Given the description of an element on the screen output the (x, y) to click on. 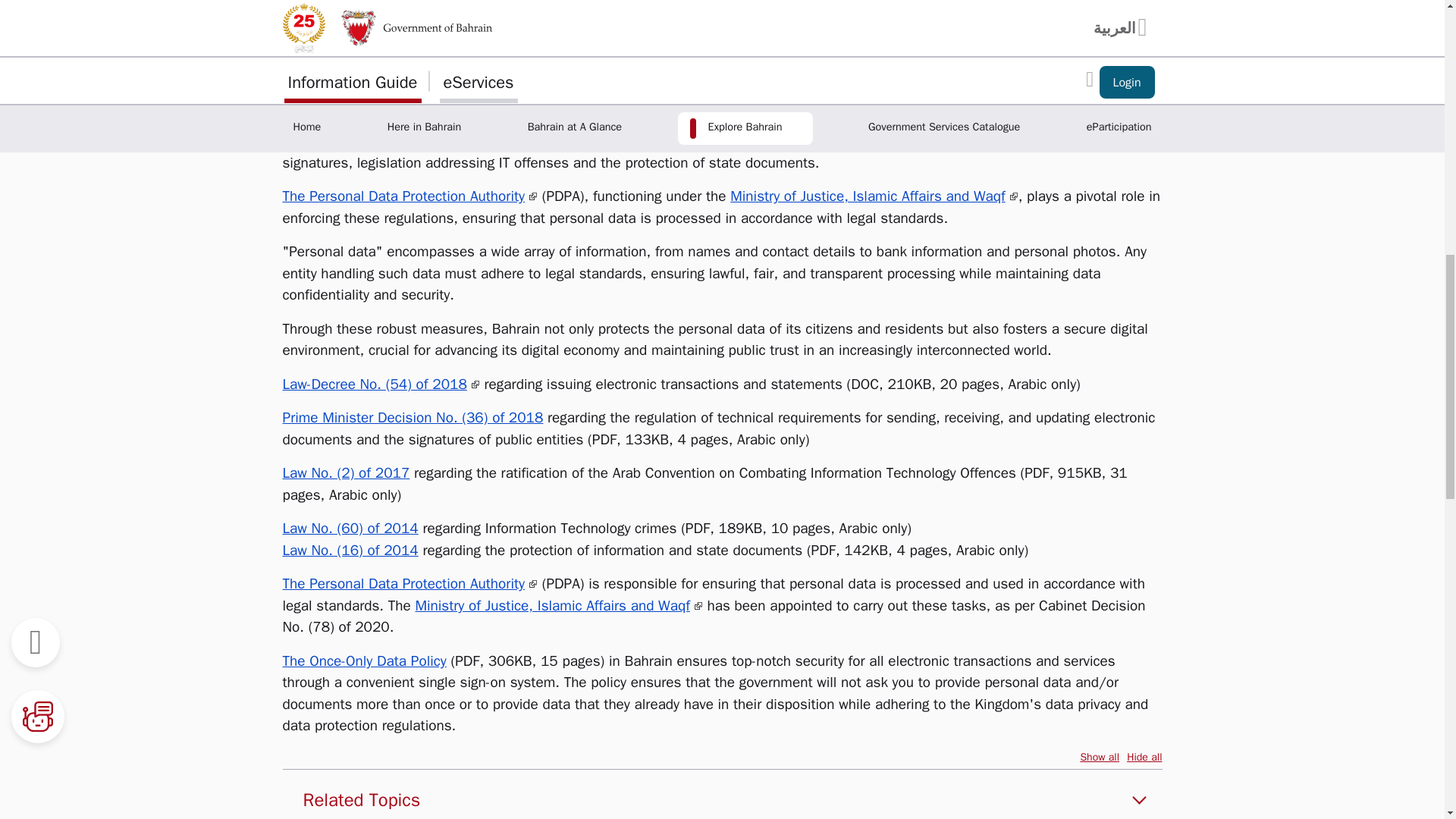
The Personal Data Protection Authority (409, 583)
Hide all (1143, 756)
electronic transactions (571, 140)
Show all (1099, 756)
Ministry of Justice, Islamic Affairs and Waqf (557, 606)
The Personal Data Protection Authority (409, 196)
Ministry of Justice, Islamic Affairs and Waqf (873, 196)
The Once-Only Data Policy (363, 660)
